Given the description of an element on the screen output the (x, y) to click on. 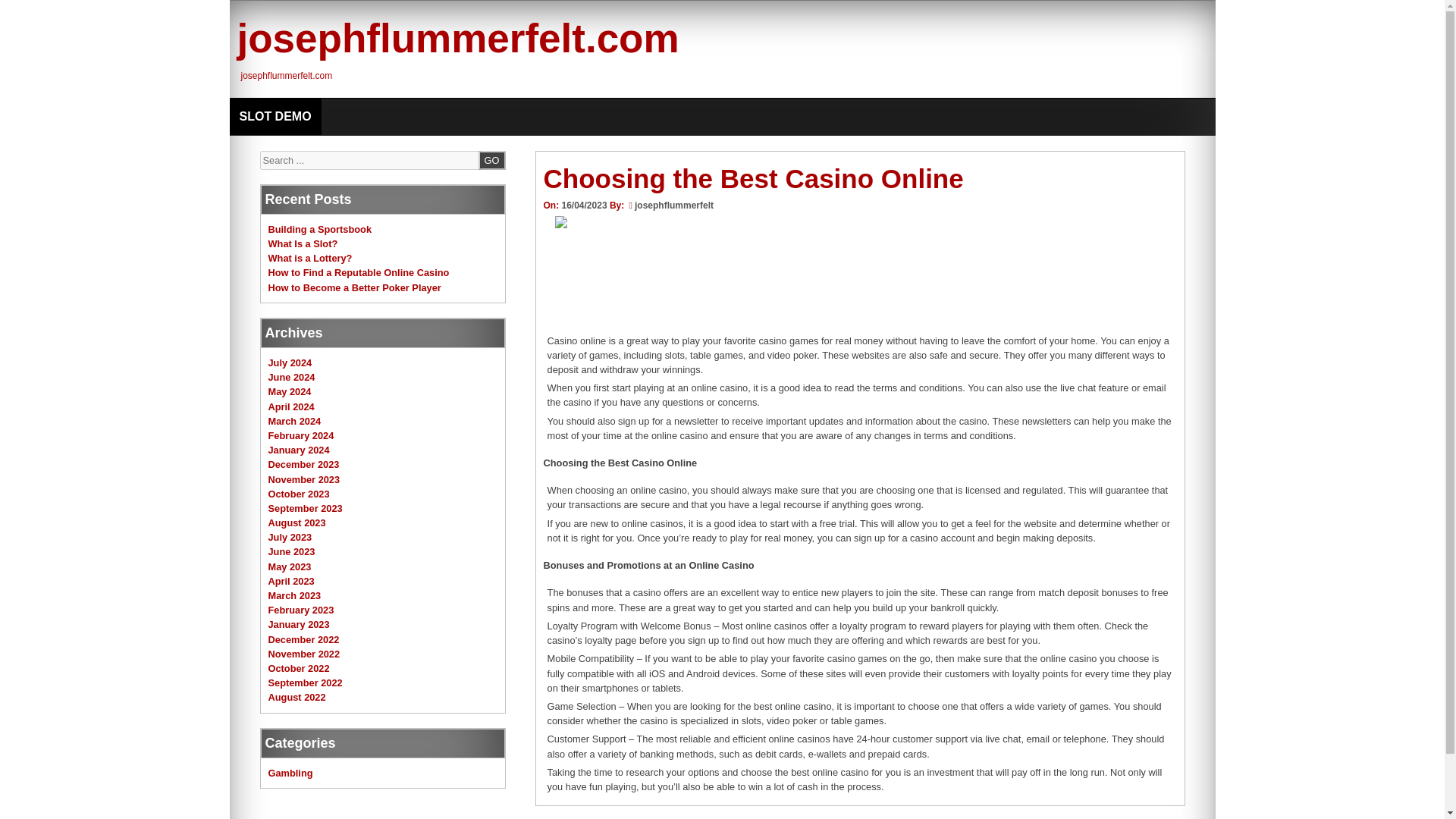
March 2024 (294, 420)
May 2024 (289, 391)
May 2023 (289, 566)
November 2023 (303, 478)
July 2023 (290, 536)
September 2023 (304, 508)
April 2024 (290, 406)
January 2024 (298, 449)
June 2024 (291, 377)
November 2022 (303, 654)
What is a Lottery? (309, 257)
July 2024 (290, 362)
Building a Sportsbook (319, 229)
December 2023 (303, 464)
December 2022 (303, 639)
